Given the description of an element on the screen output the (x, y) to click on. 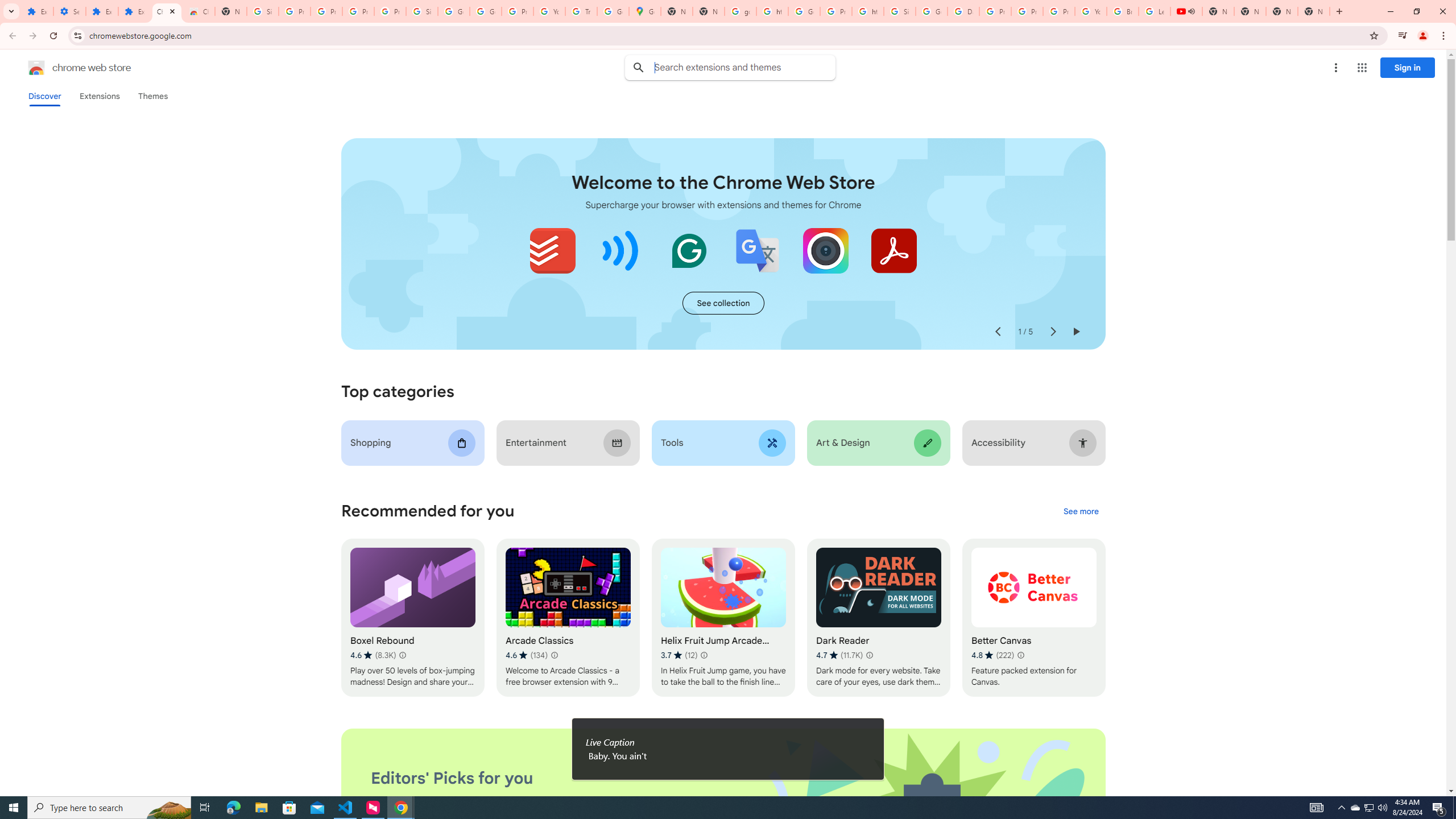
Extensions (37, 11)
Sign in - Google Accounts (899, 11)
Learn more about results and reviews "Arcade Classics" (553, 655)
Learn more about results and reviews "Better Canvas" (1019, 655)
Extensions (101, 11)
Resume auto-play (1075, 331)
Search input (744, 67)
New Tab (1313, 11)
https://scholar.google.com/ (772, 11)
Average rating 4.7 out of 5 stars. 11.7K ratings. (839, 655)
Art & Design (878, 443)
